Given the description of an element on the screen output the (x, y) to click on. 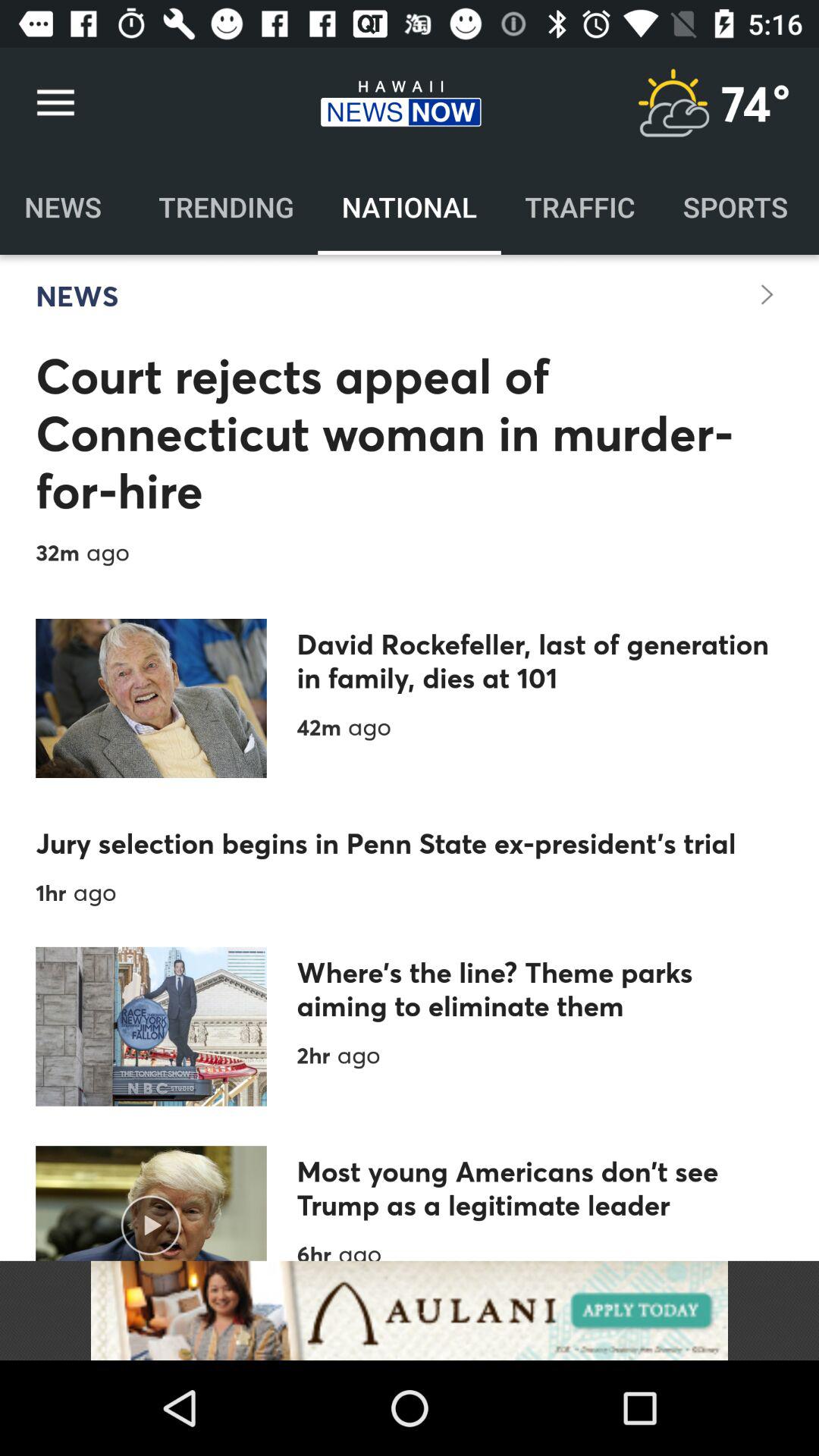
see weather report (673, 103)
